Given the description of an element on the screen output the (x, y) to click on. 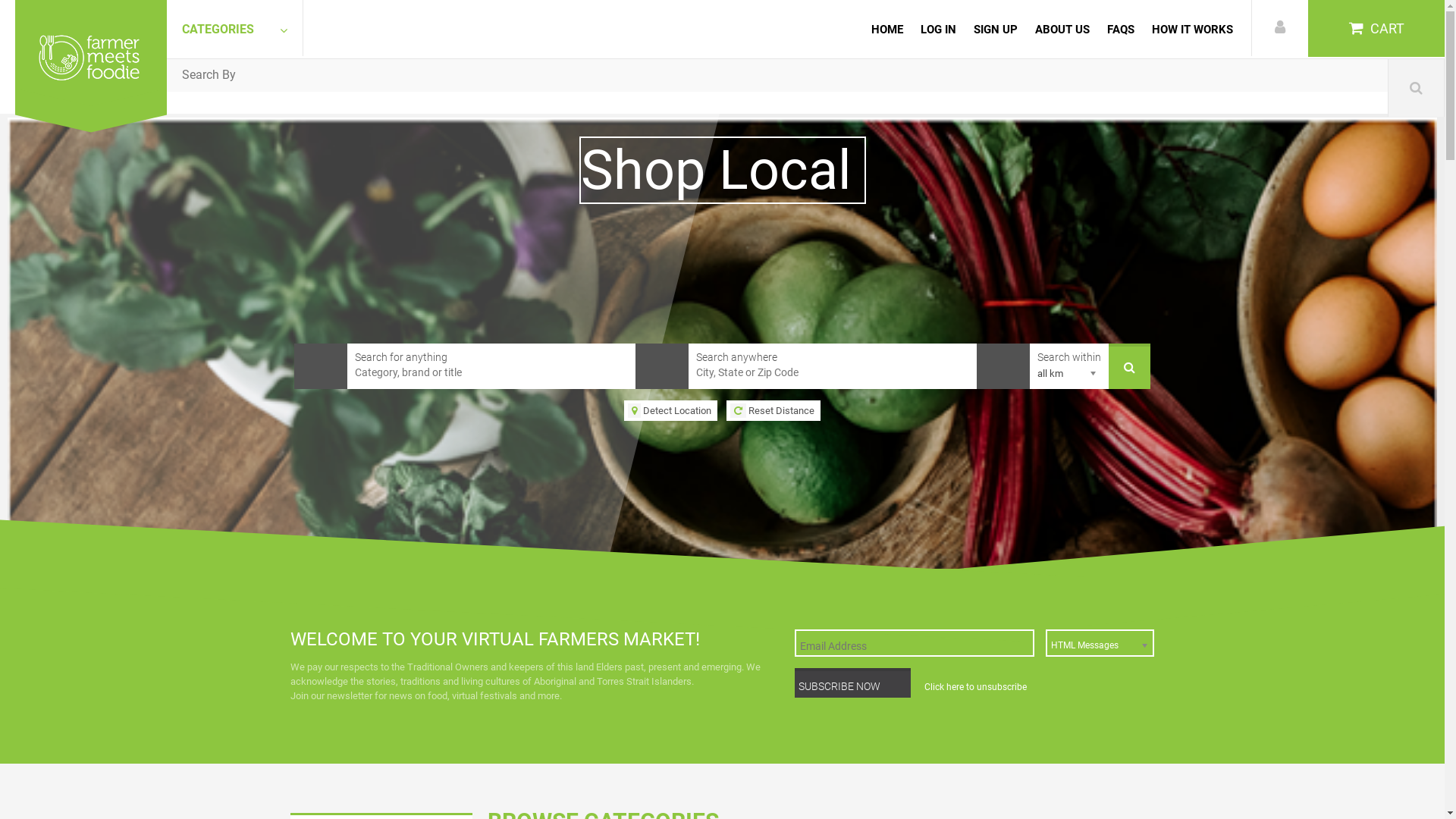
Click here to unsubscribe Element type: text (974, 686)
CATEGORIES Element type: text (234, 28)
Reset Distance Element type: text (773, 410)
Subscribe Now Element type: text (852, 682)
ABOUT US Element type: text (1062, 29)
Shop Local  Element type: text (722, 185)
Detect Location Element type: text (670, 410)
HTML Messages Element type: text (1099, 642)
HOW IT WORKS Element type: text (1196, 29)
HOME Element type: text (890, 29)
SIGN UP Element type: text (995, 29)
all km Element type: text (1069, 371)
CART Element type: text (1375, 28)
LOG IN Element type: text (938, 29)
FAQS Element type: text (1120, 29)
